Given the description of an element on the screen output the (x, y) to click on. 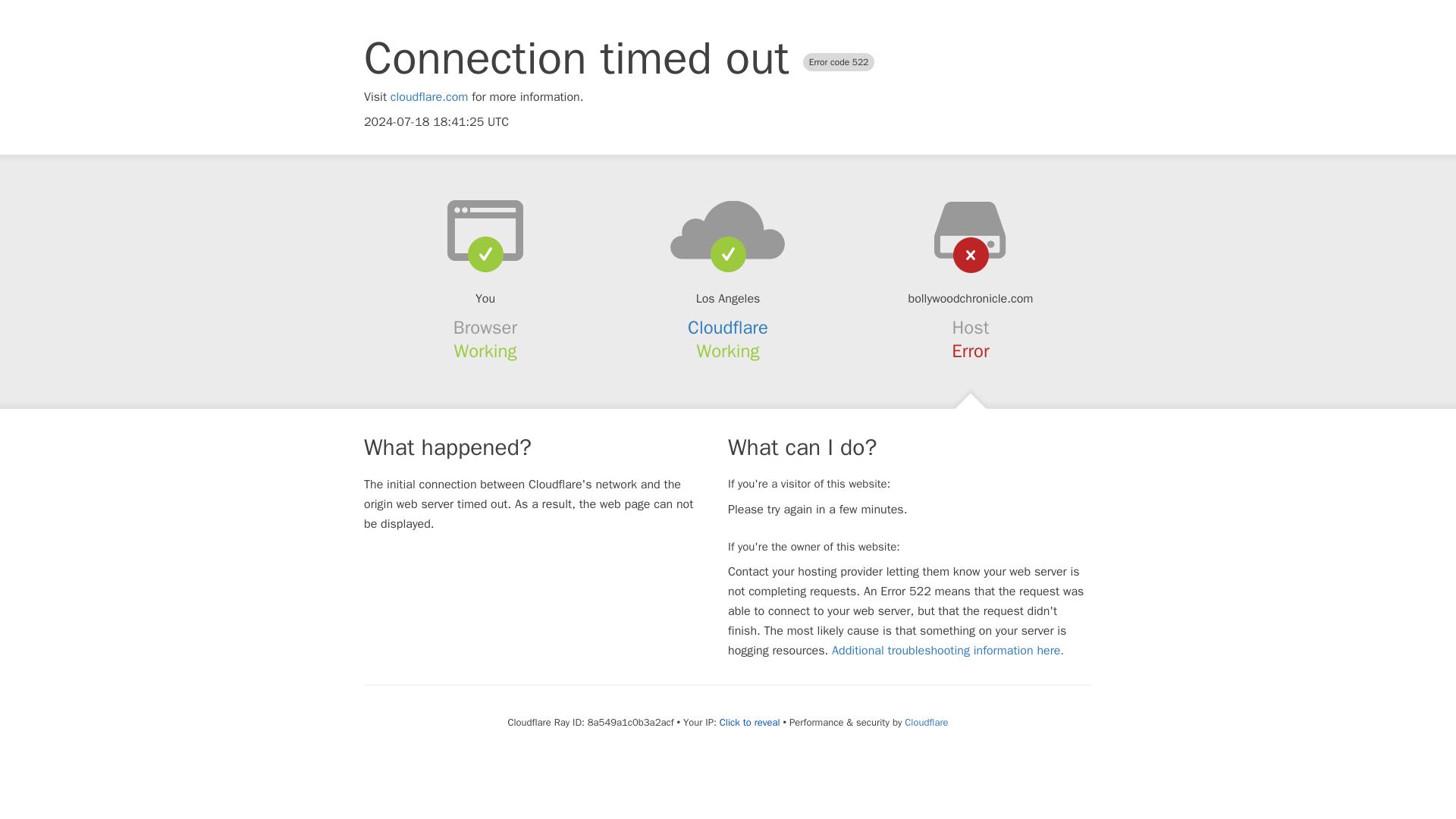
Cloudflare (727, 327)
Cloudflare (925, 721)
Additional troubleshooting information here. (947, 650)
Click to reveal (749, 722)
cloudflare.com (429, 96)
